Given the description of an element on the screen output the (x, y) to click on. 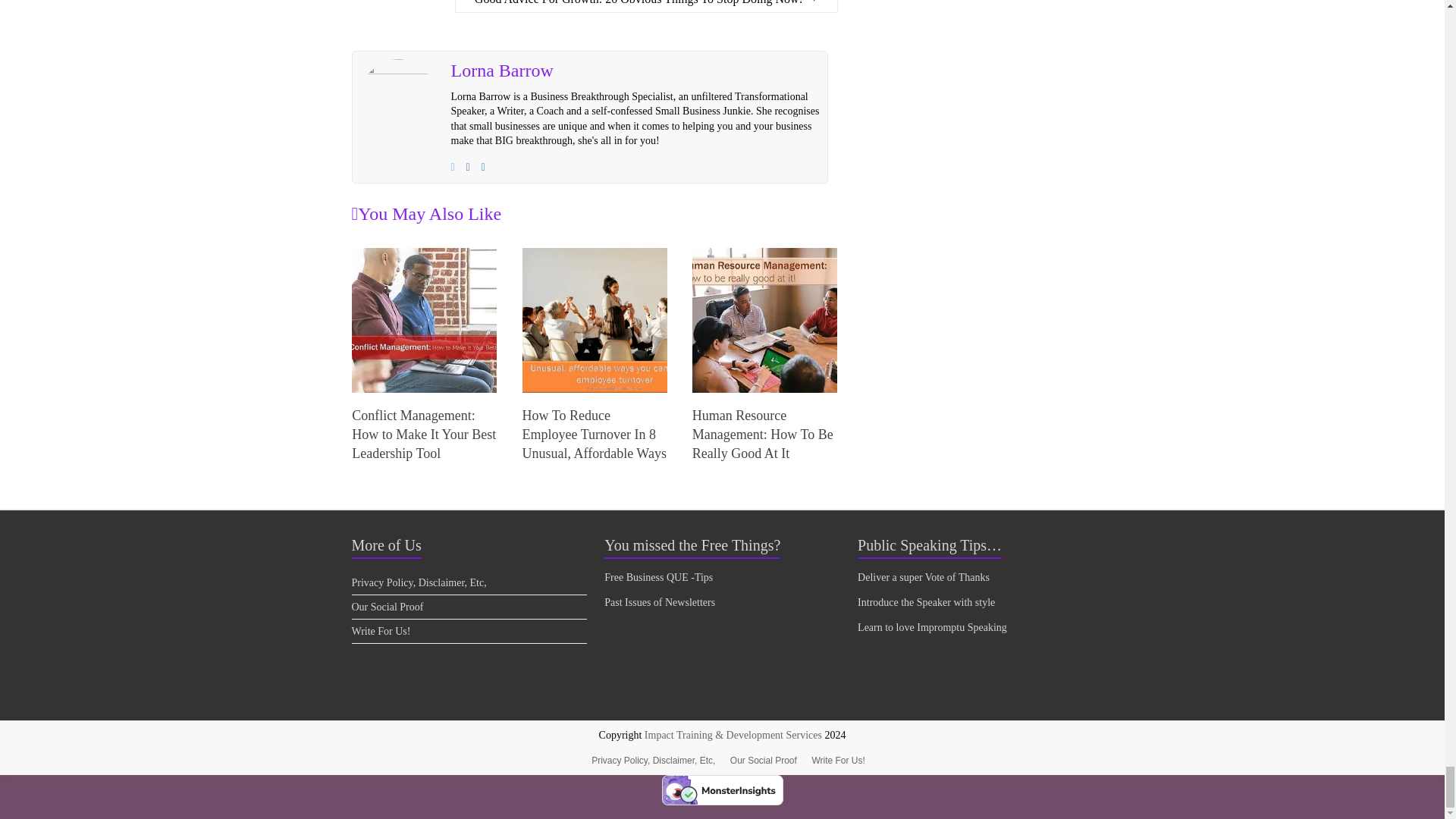
Human Resource Management: How To Be Really Good At It (765, 255)
Human Resource Management: How To Be Really Good At It (765, 320)
Human Resource Management: How To Be Really Good At It (762, 434)
Verified by MonsterInsights (722, 789)
